Given the description of an element on the screen output the (x, y) to click on. 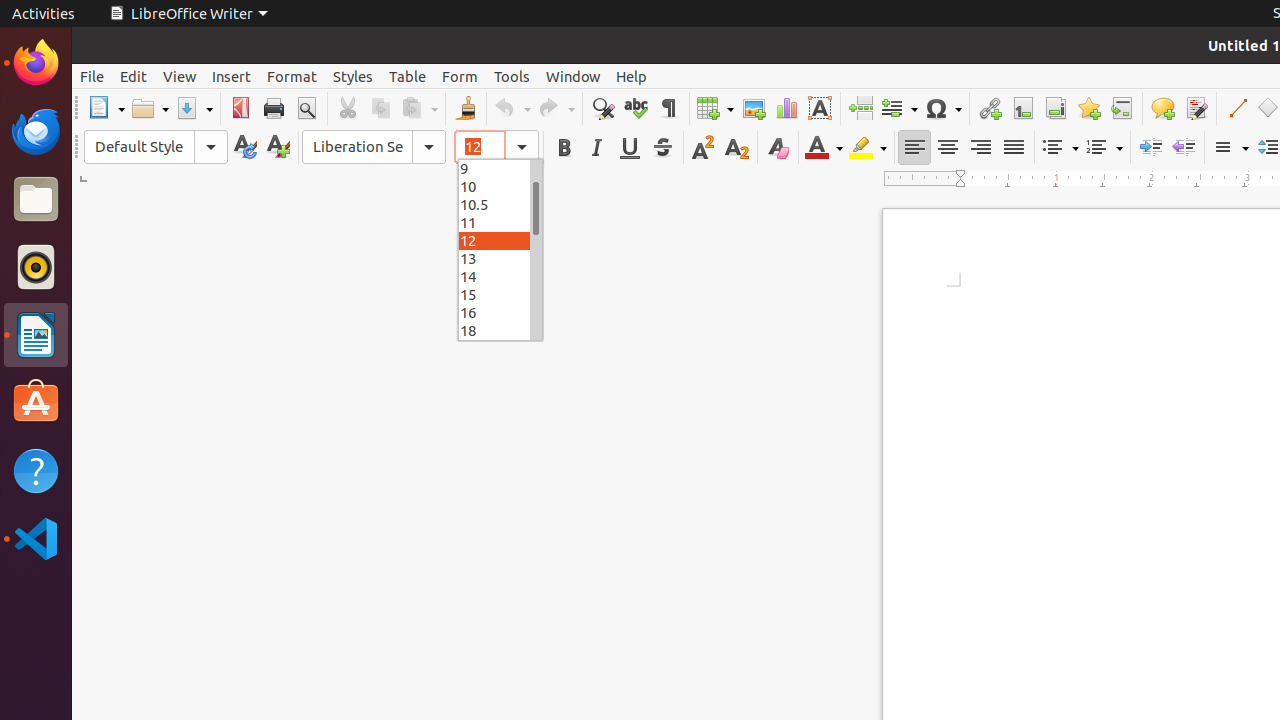
Endnote Element type: push-button (1055, 108)
Center Element type: toggle-button (947, 147)
Strikethrough Element type: toggle-button (662, 147)
Form Element type: menu (460, 76)
Undo Element type: push-button (512, 108)
